Given the description of an element on the screen output the (x, y) to click on. 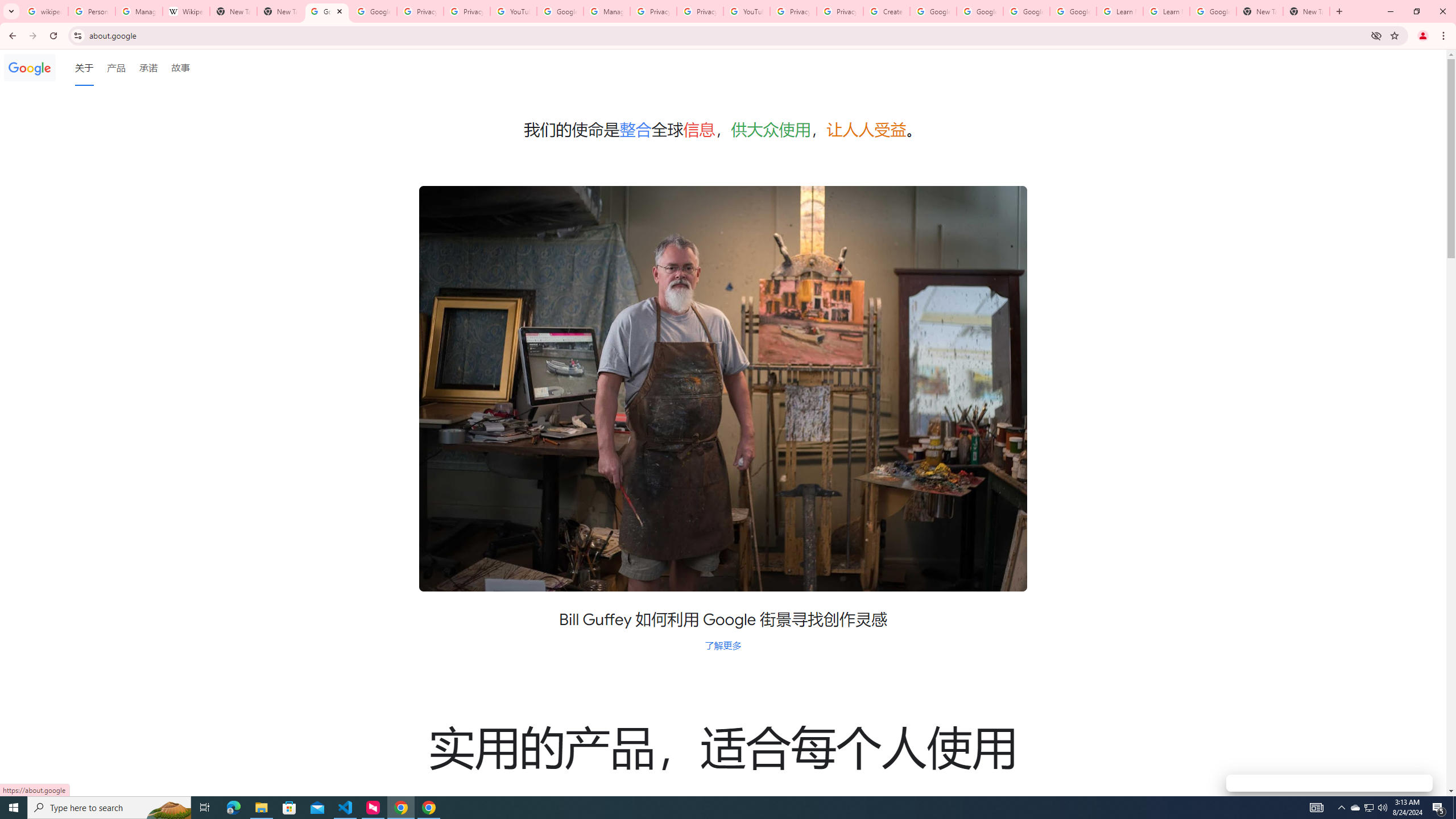
YouTube (745, 11)
Google Account (1213, 11)
Create your Google Account (886, 11)
New Tab (279, 11)
